Given the description of an element on the screen output the (x, y) to click on. 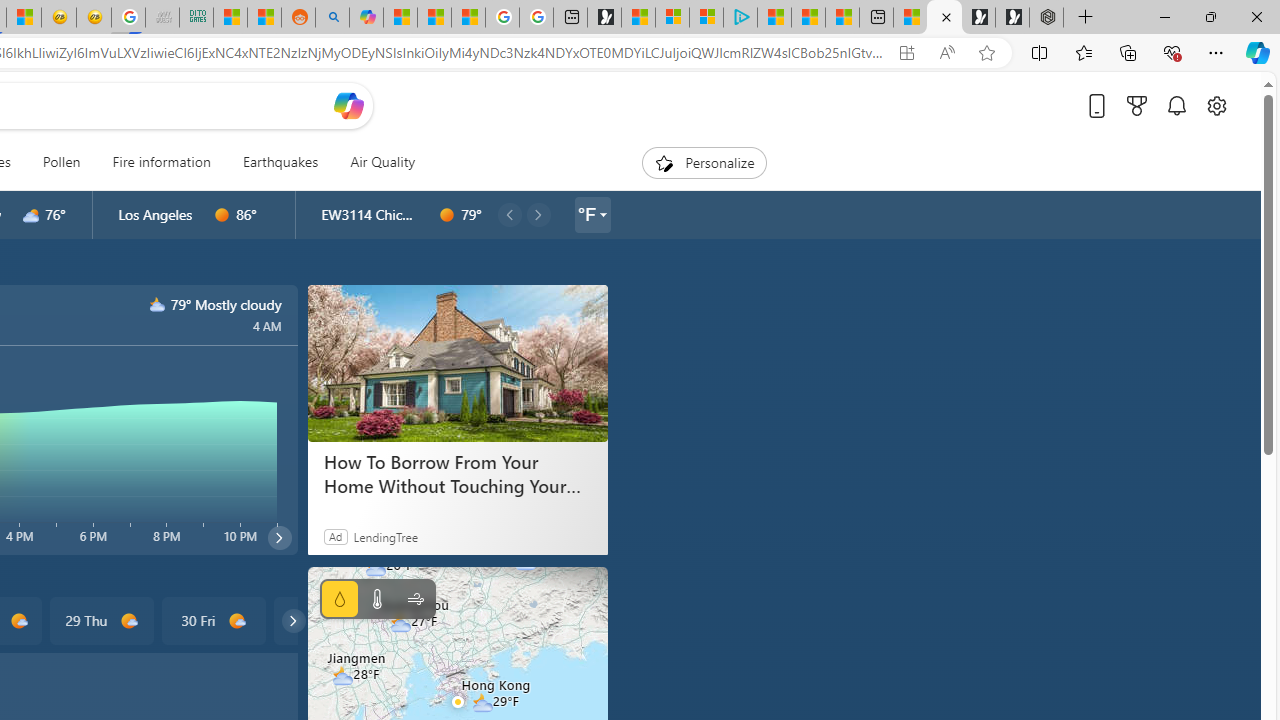
d0000 (447, 215)
Wind (414, 599)
Temperature (376, 599)
29 Thu d1000 (100, 620)
